Given the description of an element on the screen output the (x, y) to click on. 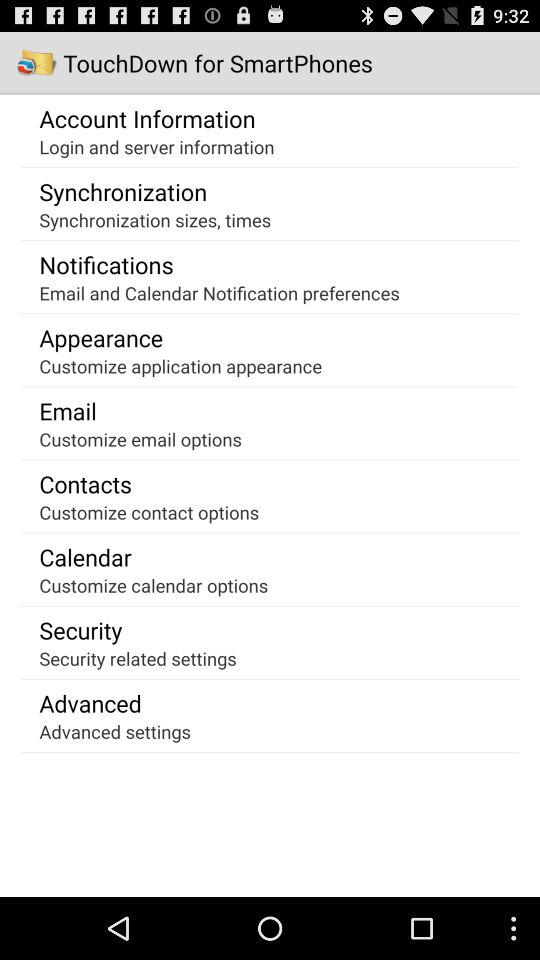
turn off the app above the advanced item (137, 658)
